Given the description of an element on the screen output the (x, y) to click on. 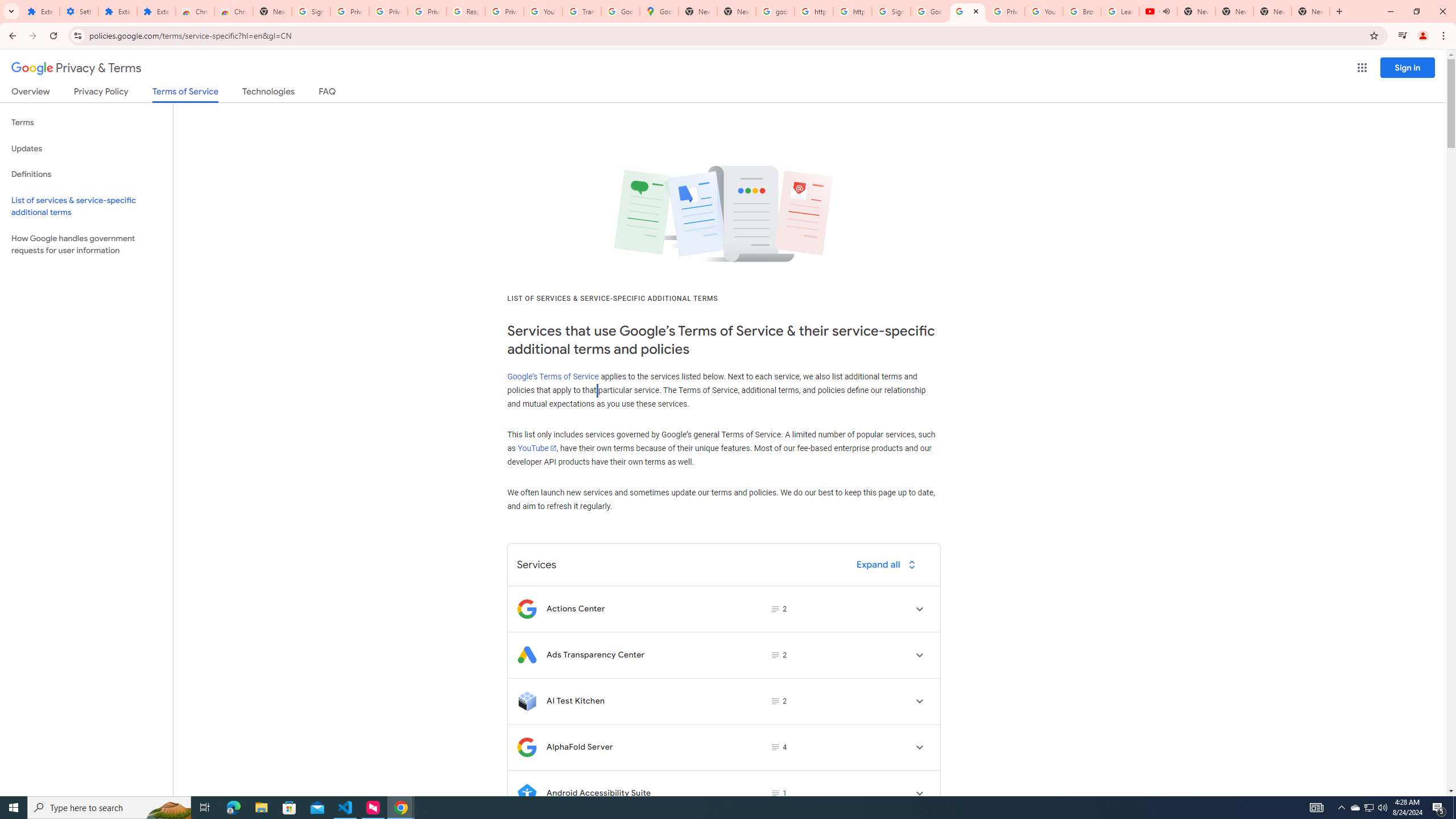
Logo for AlphaFold Server (526, 746)
YouTube (536, 447)
Logo for Ads Transparency Center (526, 654)
New Tab (272, 11)
Chrome Web Store - Themes (233, 11)
Logo for AI Test Kitchen (526, 700)
Sign in - Google Accounts (890, 11)
